Given the description of an element on the screen output the (x, y) to click on. 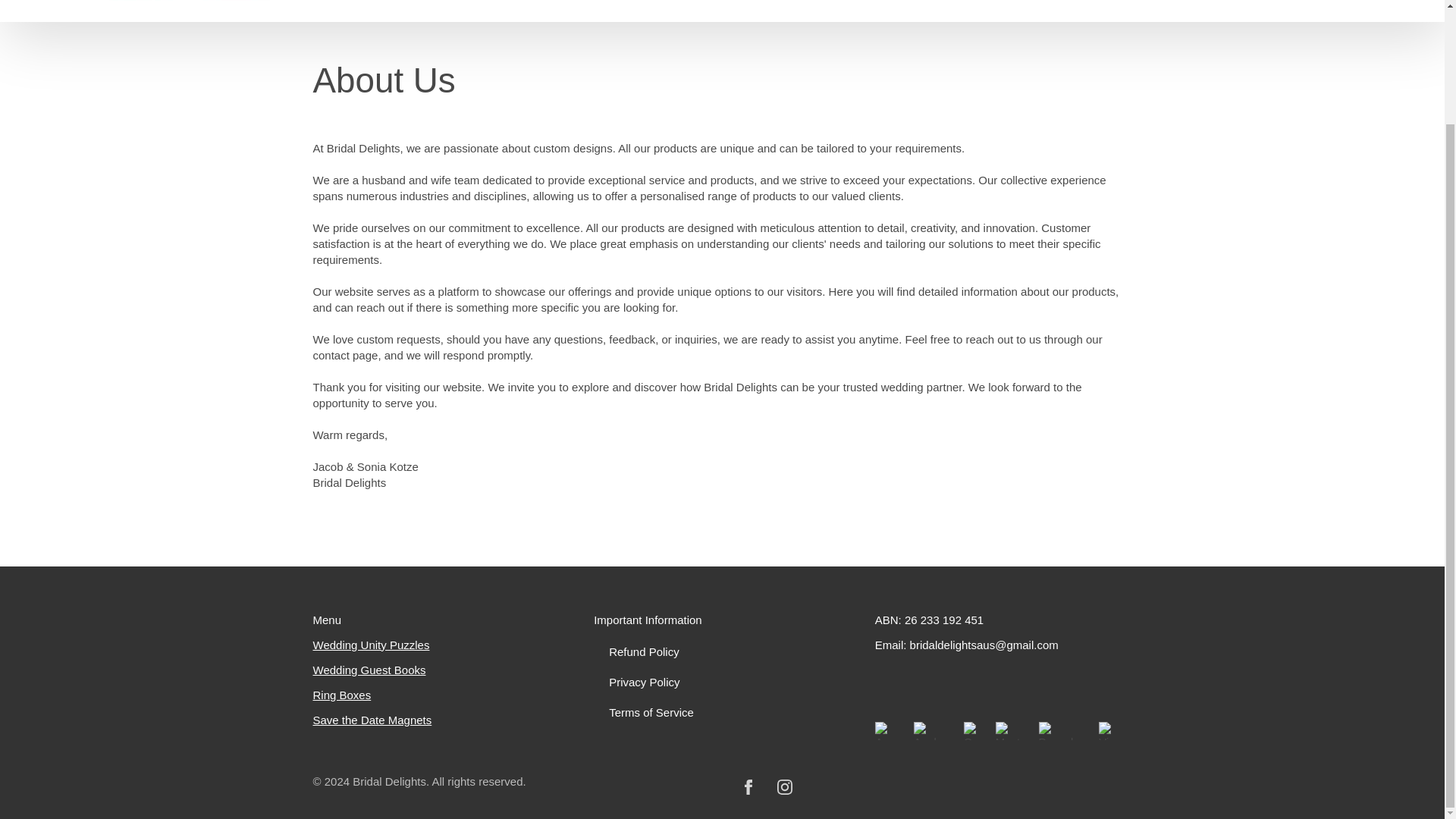
Terms of Service (722, 712)
Refund Policy (722, 652)
Save the Date Magnets (371, 719)
Wedding Guest Books (369, 669)
Privacy Policy (722, 682)
Wedding Unity Puzzles (371, 644)
Ring Boxes (342, 694)
